Given the description of an element on the screen output the (x, y) to click on. 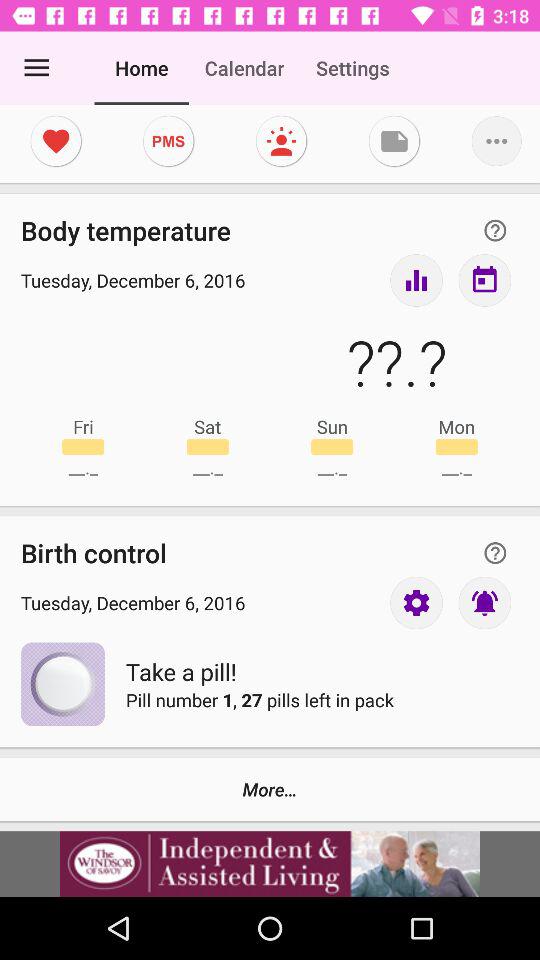
question mark (495, 230)
